Given the description of an element on the screen output the (x, y) to click on. 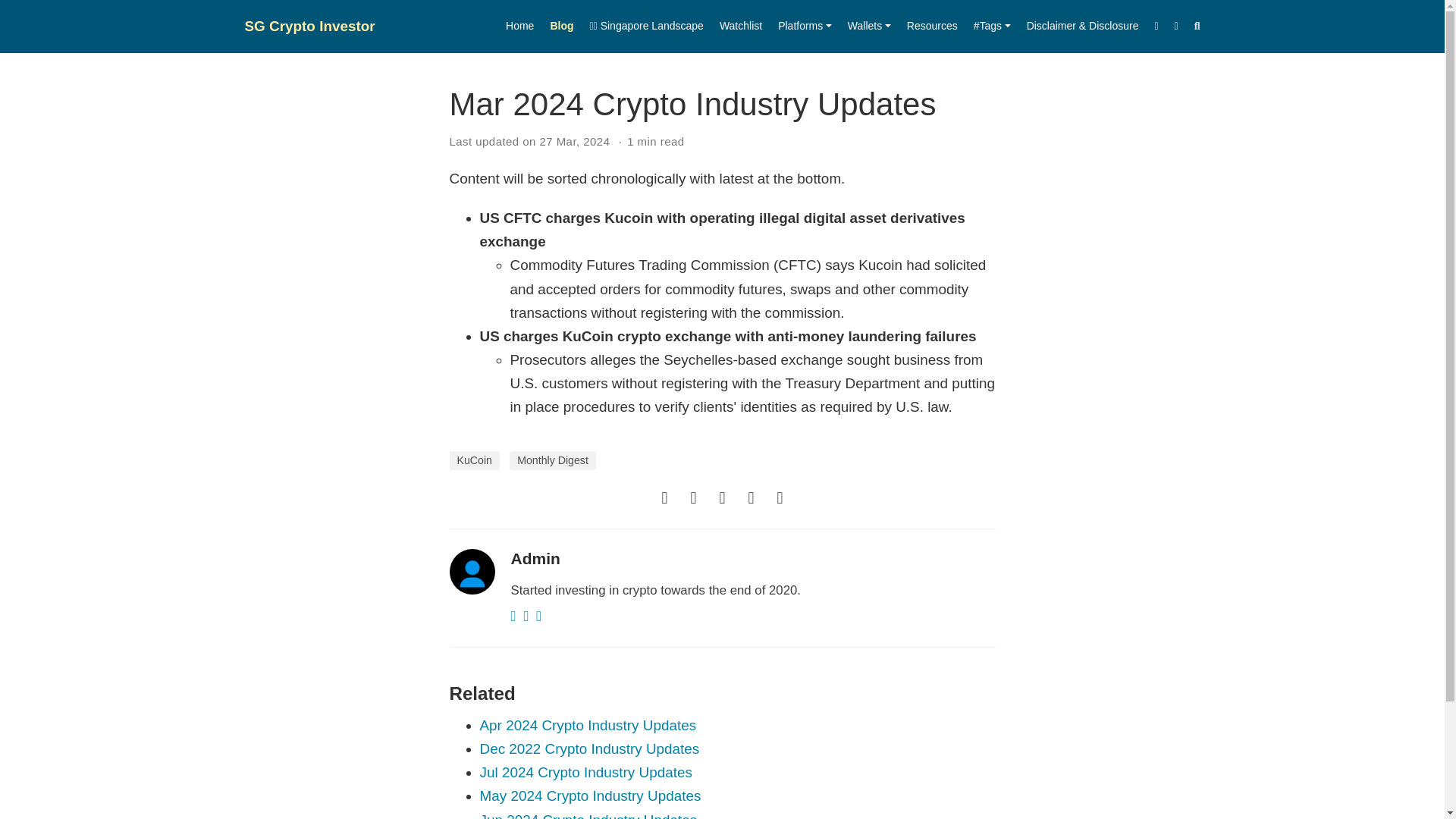
Monthly Digest (552, 460)
Platforms (805, 26)
KuCoin (473, 460)
Blog (560, 26)
SG Crypto Investor (309, 26)
Wallets (869, 26)
Watchlist (740, 26)
Home (519, 26)
Resources (931, 26)
